Given the description of an element on the screen output the (x, y) to click on. 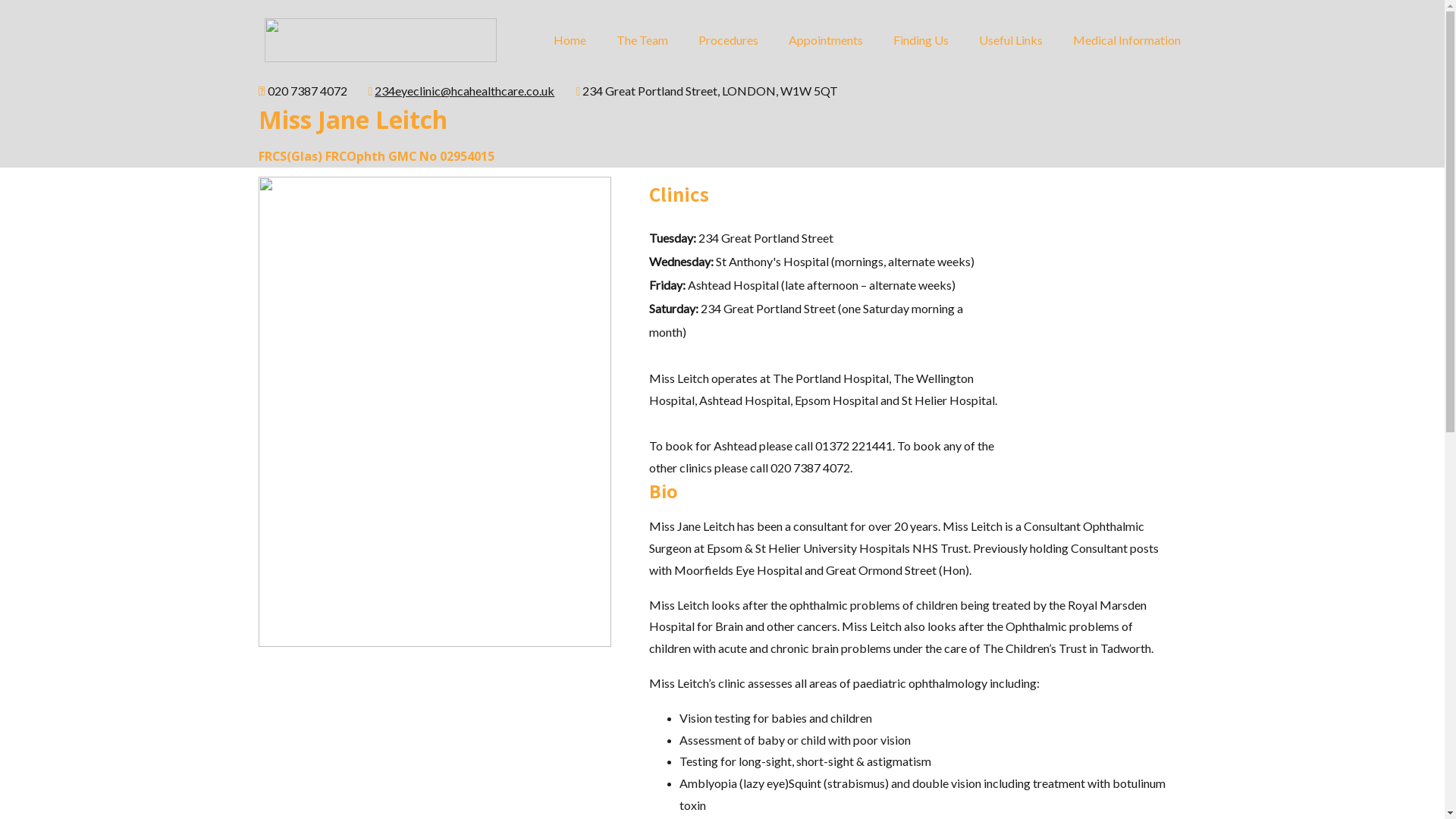
Finding Us Element type: text (920, 40)
Home Element type: text (569, 40)
Useful Links Element type: text (1009, 40)
Medical Information Element type: text (1125, 40)
Procedures Element type: text (727, 40)
234eyeclinic@hcahealthcare.co.uk Element type: text (464, 90)
Appointments Element type: text (825, 40)
The Team Element type: text (641, 40)
